Given the description of an element on the screen output the (x, y) to click on. 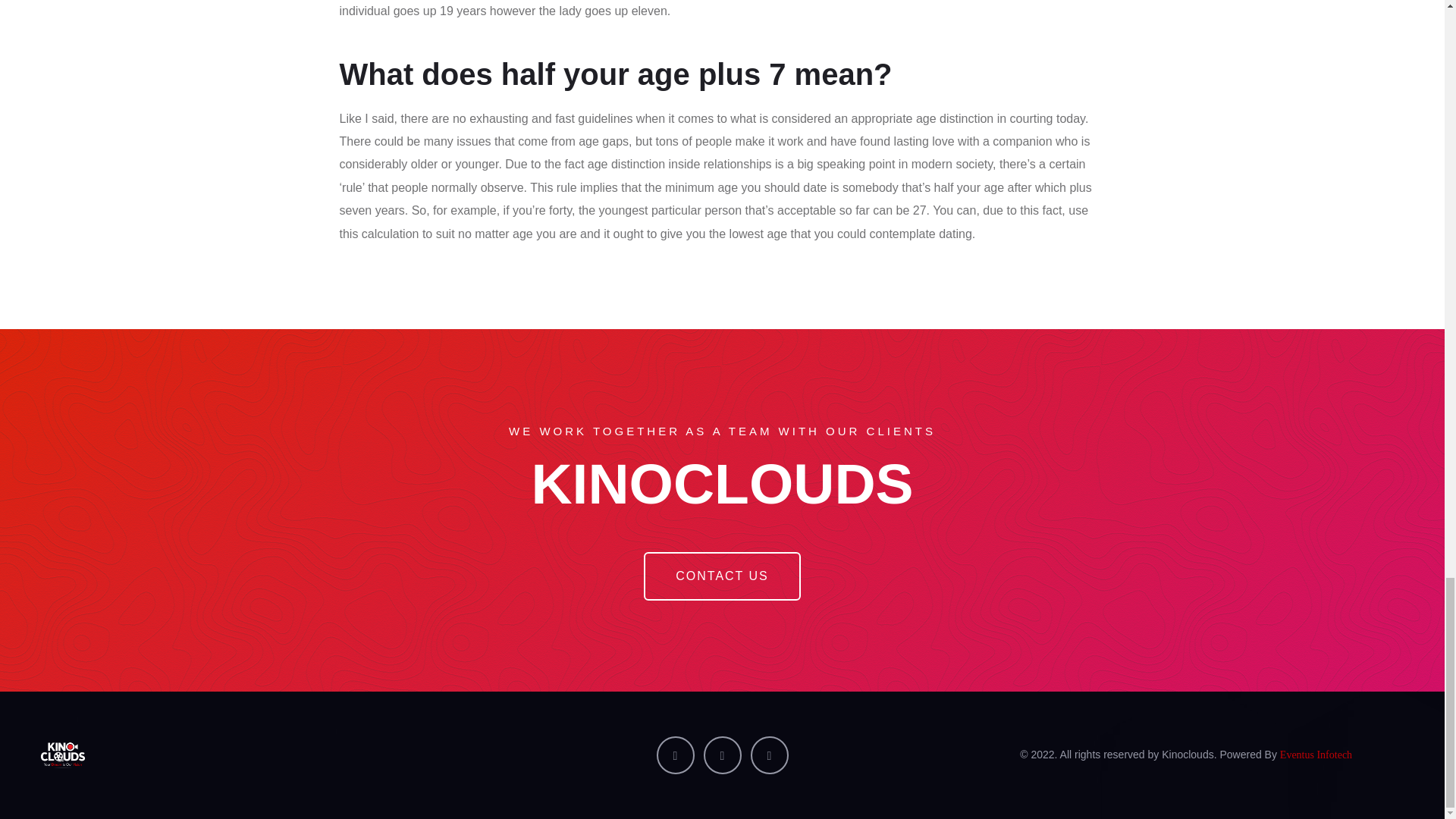
CONTACT US (721, 576)
Eventus Infotech (1315, 754)
Kino Clouds (258, 755)
